Given the description of an element on the screen output the (x, y) to click on. 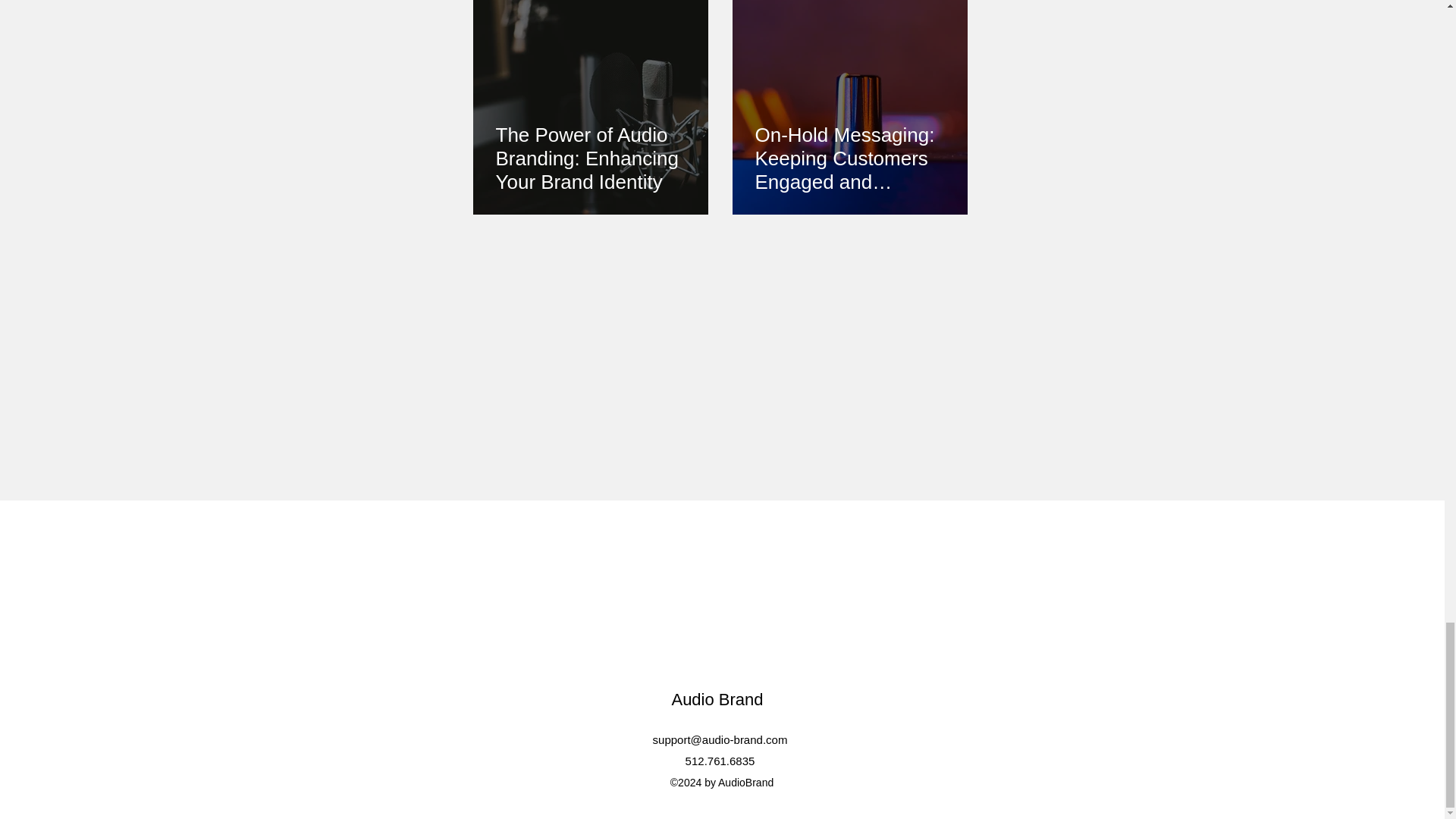
The Power of Audio Branding: Enhancing Your Brand Identity (590, 158)
On-Hold Messaging: Keeping Customers Engaged and Informed (849, 158)
